Given the description of an element on the screen output the (x, y) to click on. 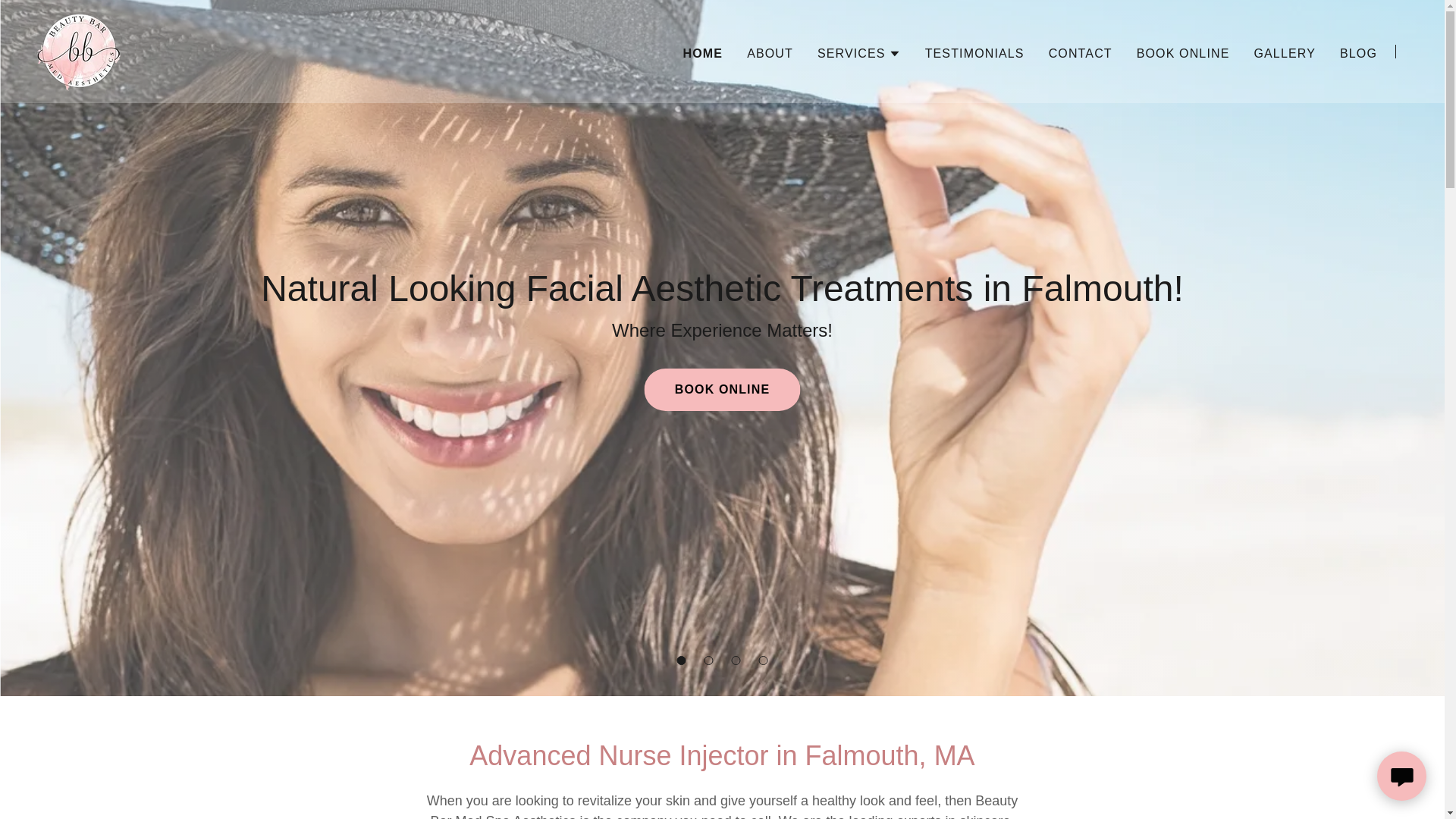
BLOG (1358, 52)
CONTACT (1079, 52)
SERVICES (858, 53)
BOOK ONLINE (1183, 52)
BOOK ONLINE (722, 389)
GALLERY (1284, 52)
Beauty Bar Med Aesthetics (78, 50)
HOME (702, 53)
ABOUT (769, 52)
TESTIMONIALS (974, 52)
